Given the description of an element on the screen output the (x, y) to click on. 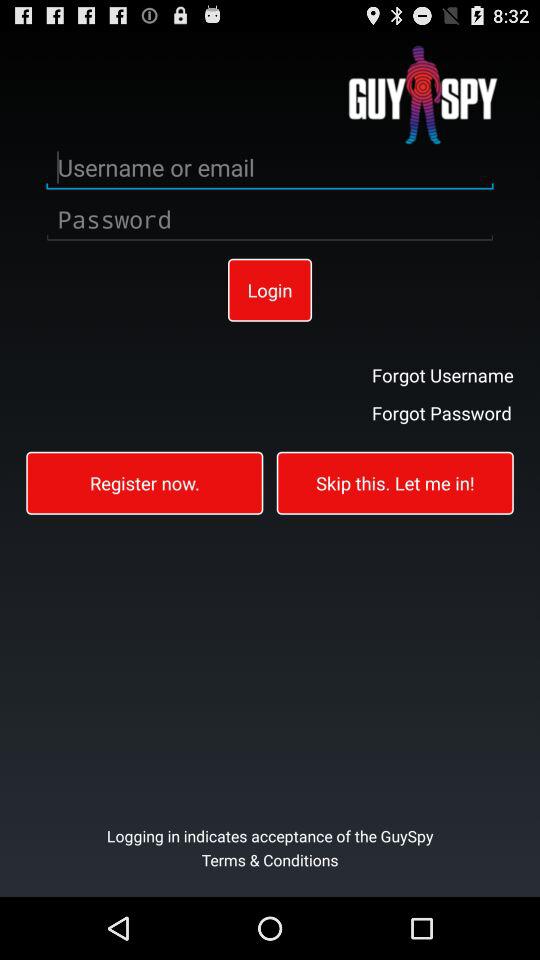
tap item below the logging in indicates item (269, 872)
